Given the description of an element on the screen output the (x, y) to click on. 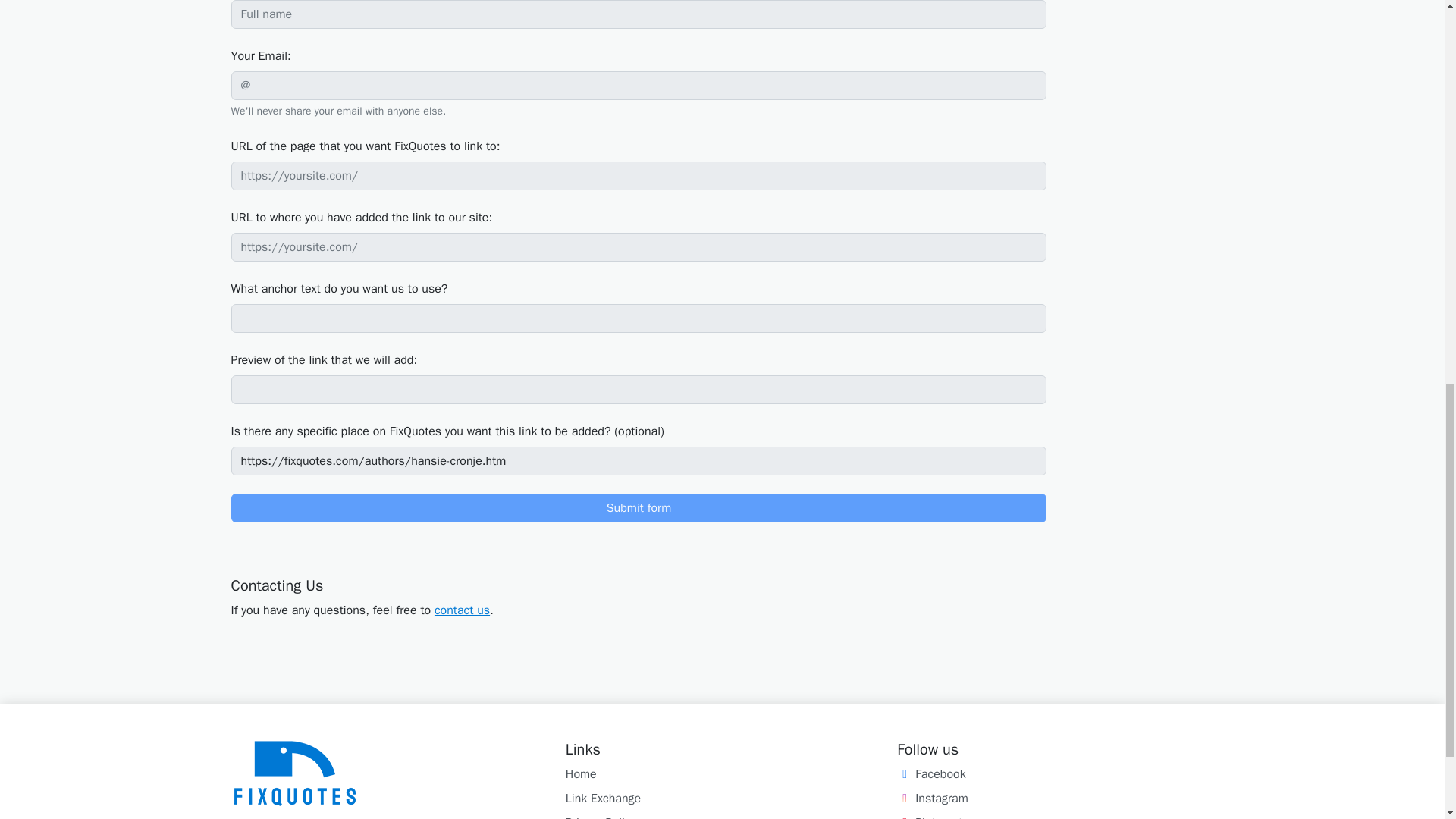
Home (581, 774)
contact us (461, 610)
Facebook (930, 774)
Instagram (932, 798)
Privacy Policy (600, 816)
Submit form (638, 507)
Pinterest (929, 816)
Link Exchange (603, 798)
